Given the description of an element on the screen output the (x, y) to click on. 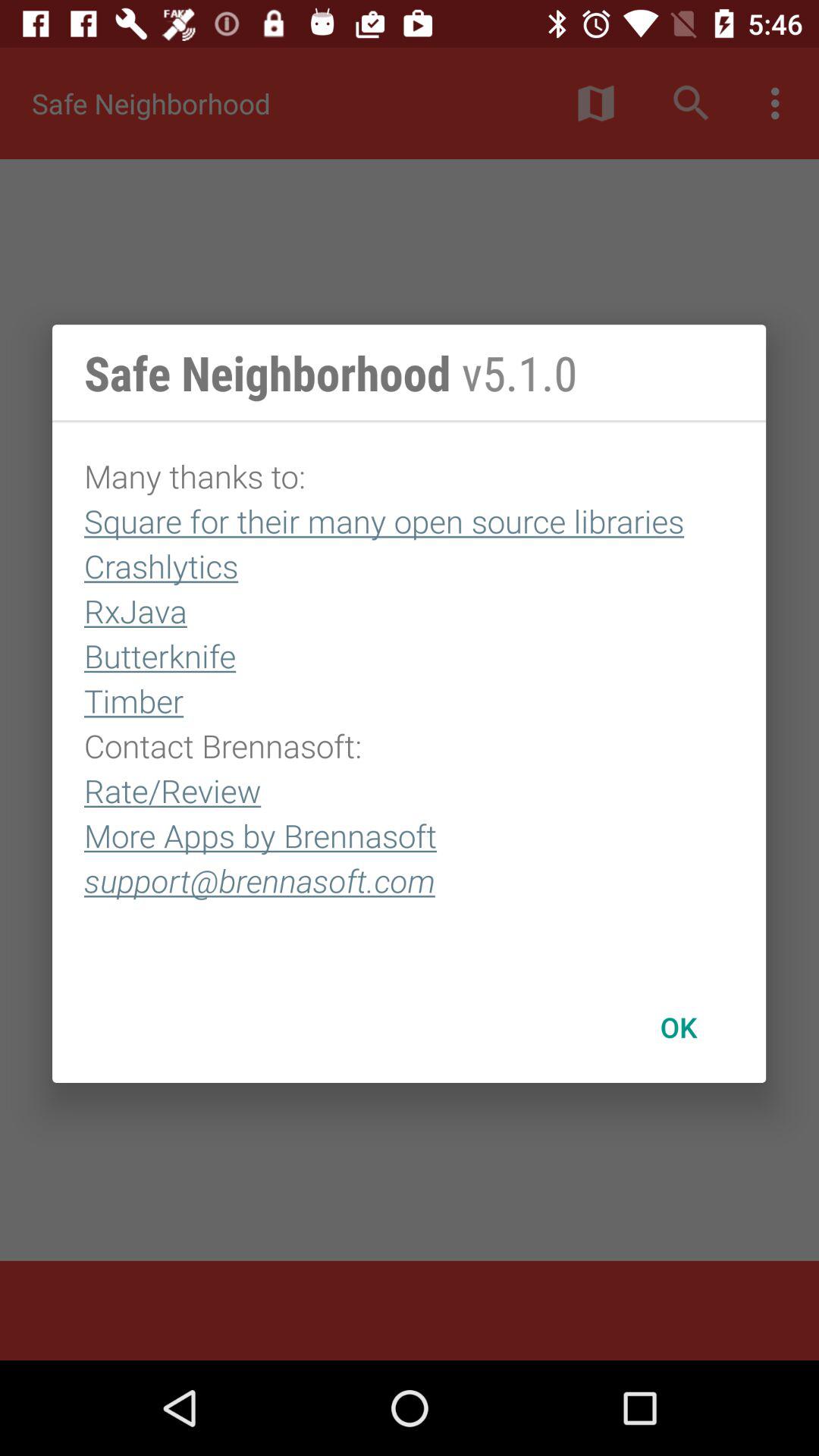
select item below many thanks to item (678, 1026)
